Given the description of an element on the screen output the (x, y) to click on. 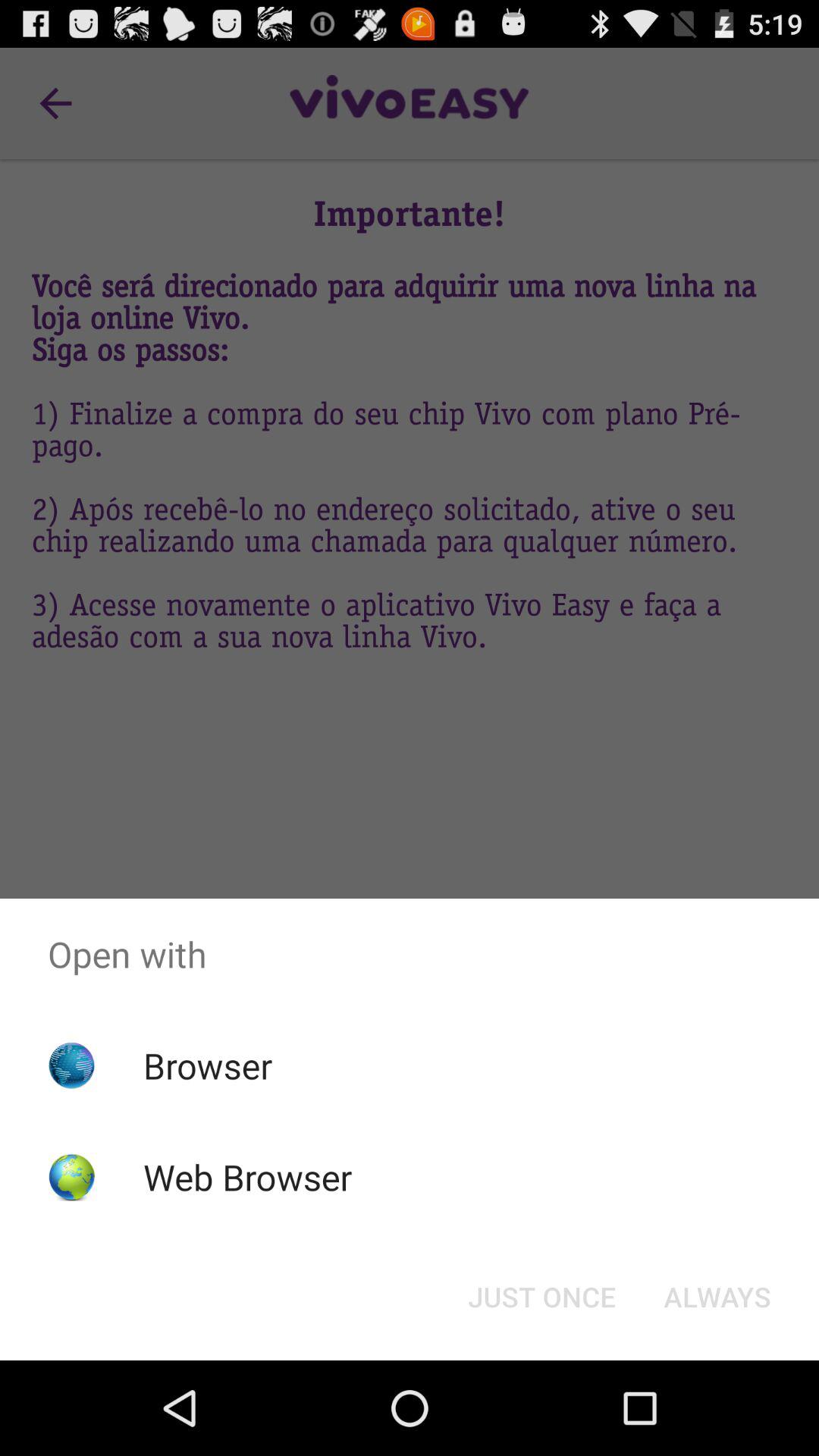
tap icon at the bottom right corner (717, 1296)
